Given the description of an element on the screen output the (x, y) to click on. 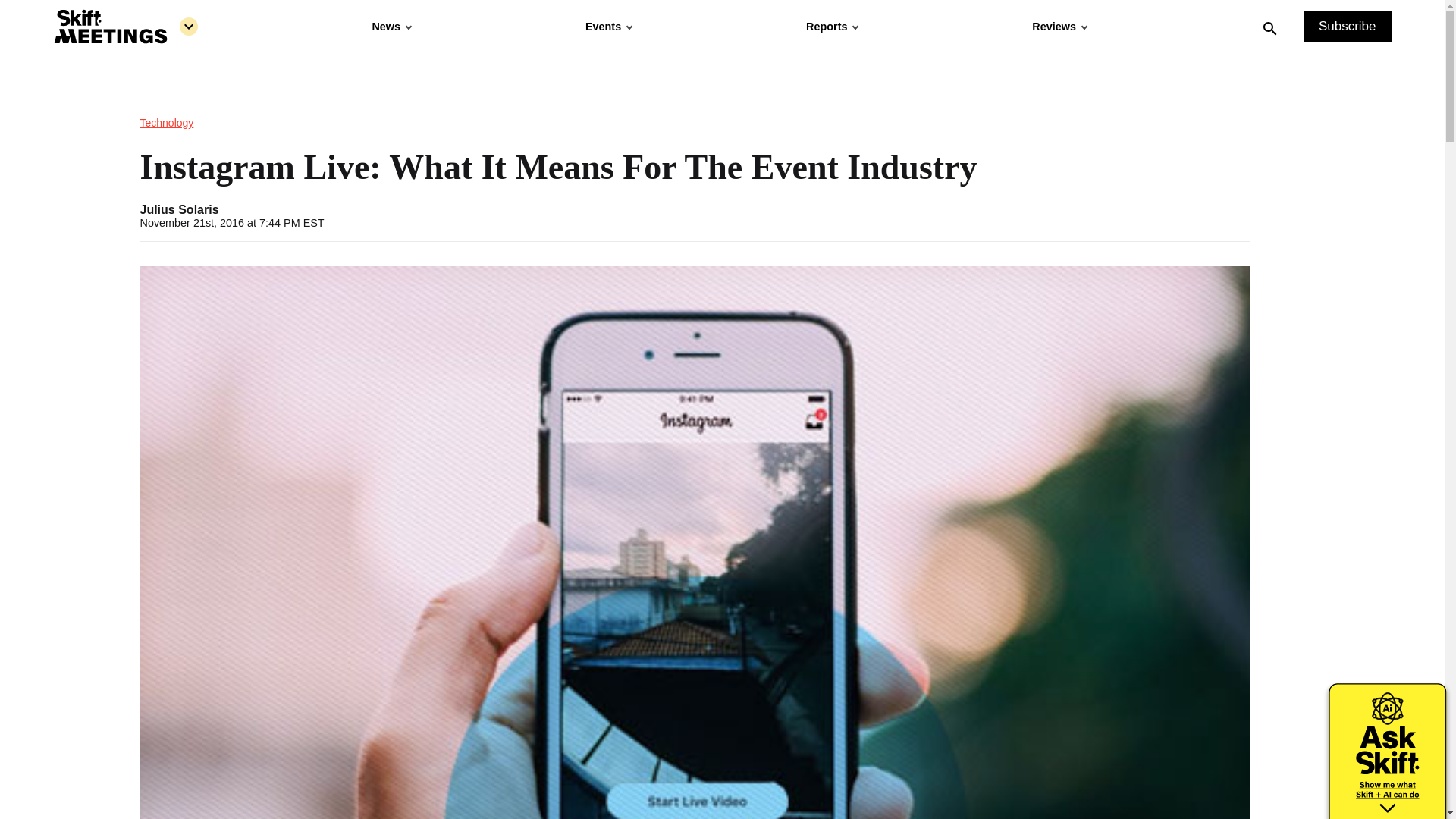
Reports (831, 26)
Subscribe (1347, 26)
Reviews (1059, 26)
